Given the description of an element on the screen output the (x, y) to click on. 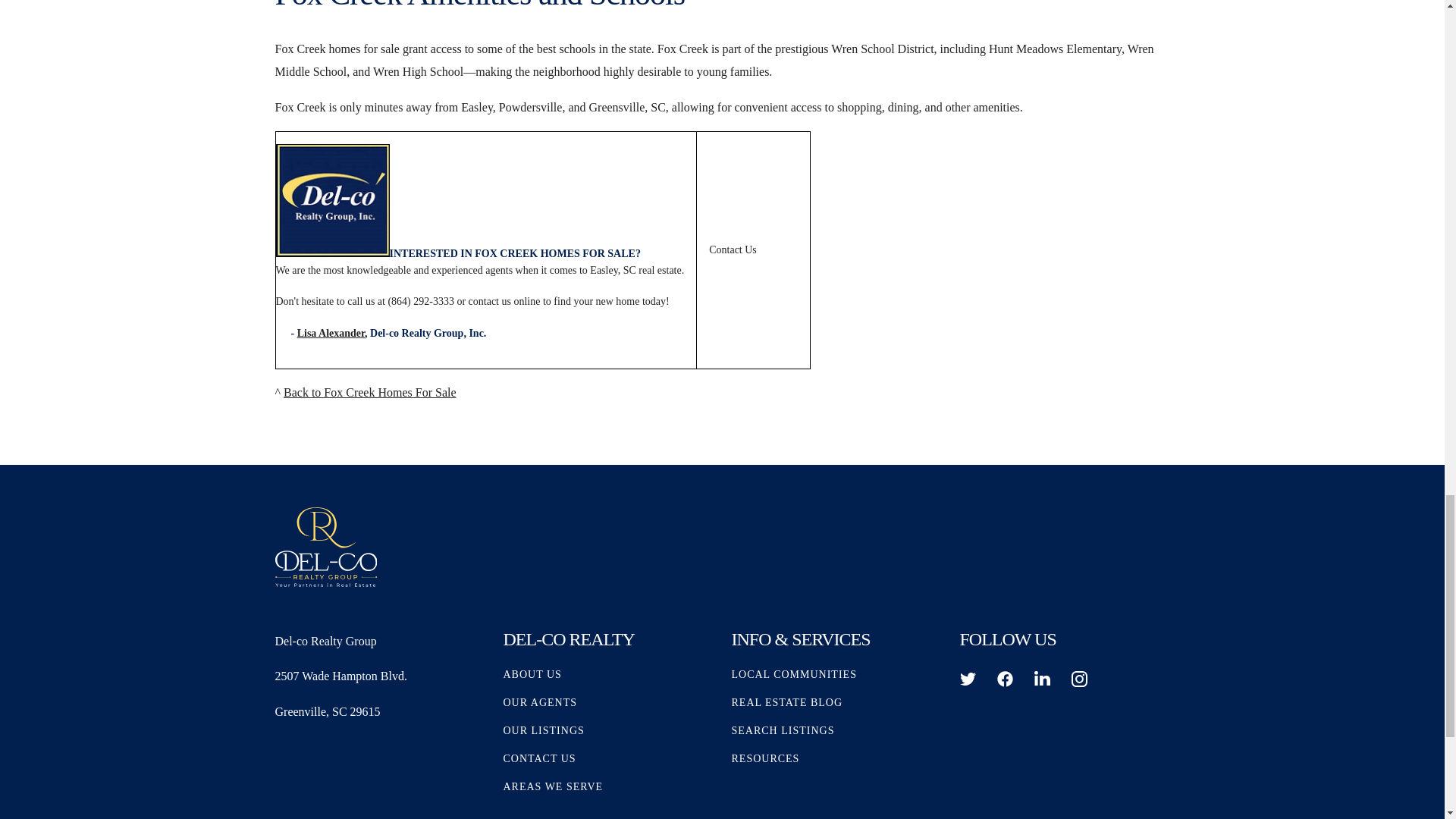
FACEBOOK (1003, 678)
LINKEDIN (1041, 678)
TWITTER (967, 678)
